Given the description of an element on the screen output the (x, y) to click on. 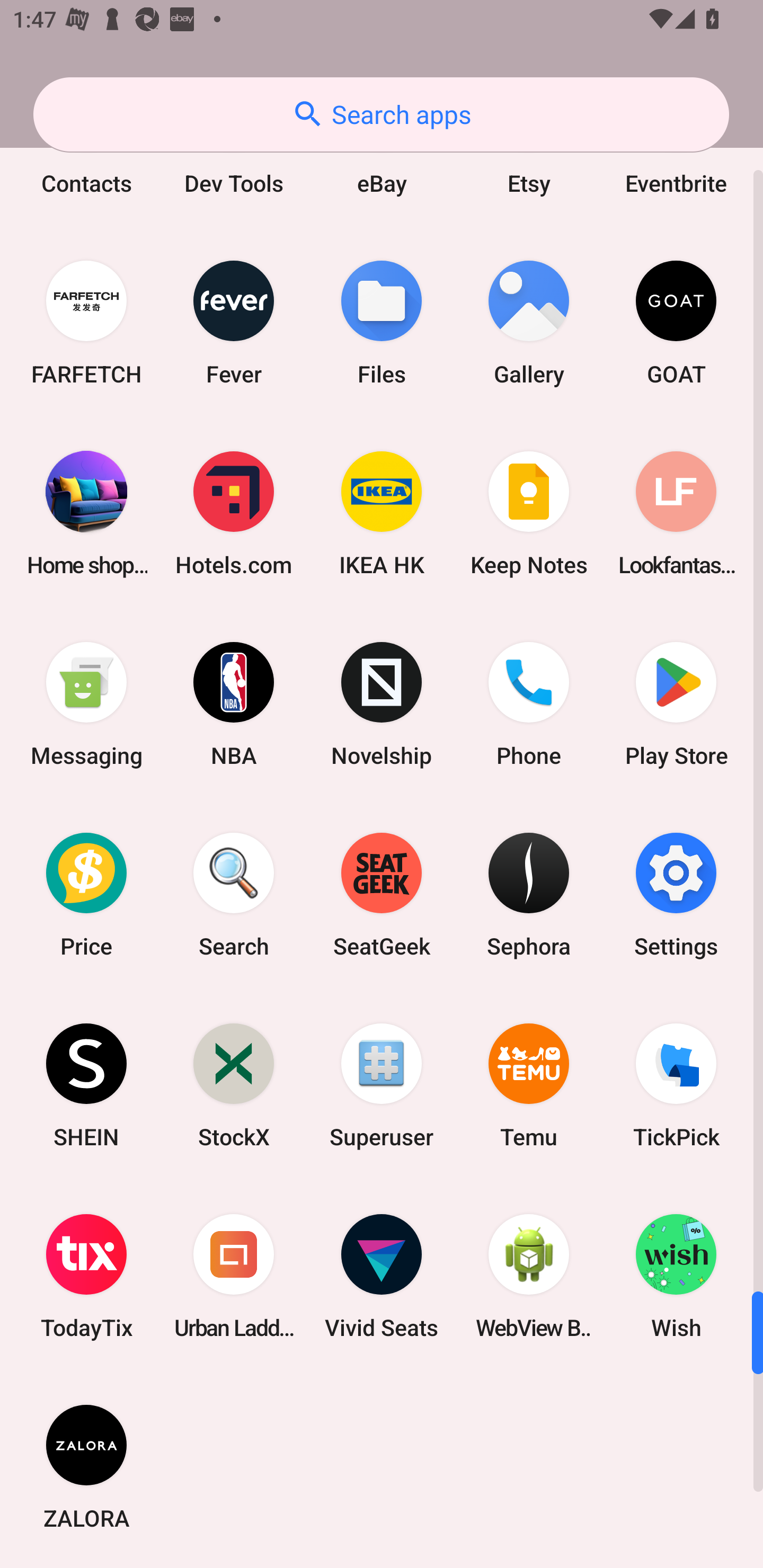
  Search apps (381, 114)
FARFETCH (86, 322)
Fever (233, 322)
Files (381, 322)
Gallery (528, 322)
GOAT (676, 322)
Home shopping (86, 513)
Hotels.com (233, 513)
IKEA HK (381, 513)
Keep Notes (528, 513)
Lookfantastic (676, 513)
Messaging (86, 703)
NBA (233, 703)
Novelship (381, 703)
Phone (528, 703)
Play Store (676, 703)
Price (86, 894)
Search (233, 894)
SeatGeek (381, 894)
Sephora (528, 894)
Settings (676, 894)
SHEIN (86, 1084)
StockX (233, 1084)
Superuser (381, 1084)
Temu (528, 1084)
TickPick (676, 1084)
TodayTix (86, 1276)
Urban Ladder (233, 1276)
Vivid Seats (381, 1276)
WebView Browser Tester (528, 1276)
Wish (676, 1276)
ZALORA (86, 1466)
